Given the description of an element on the screen output the (x, y) to click on. 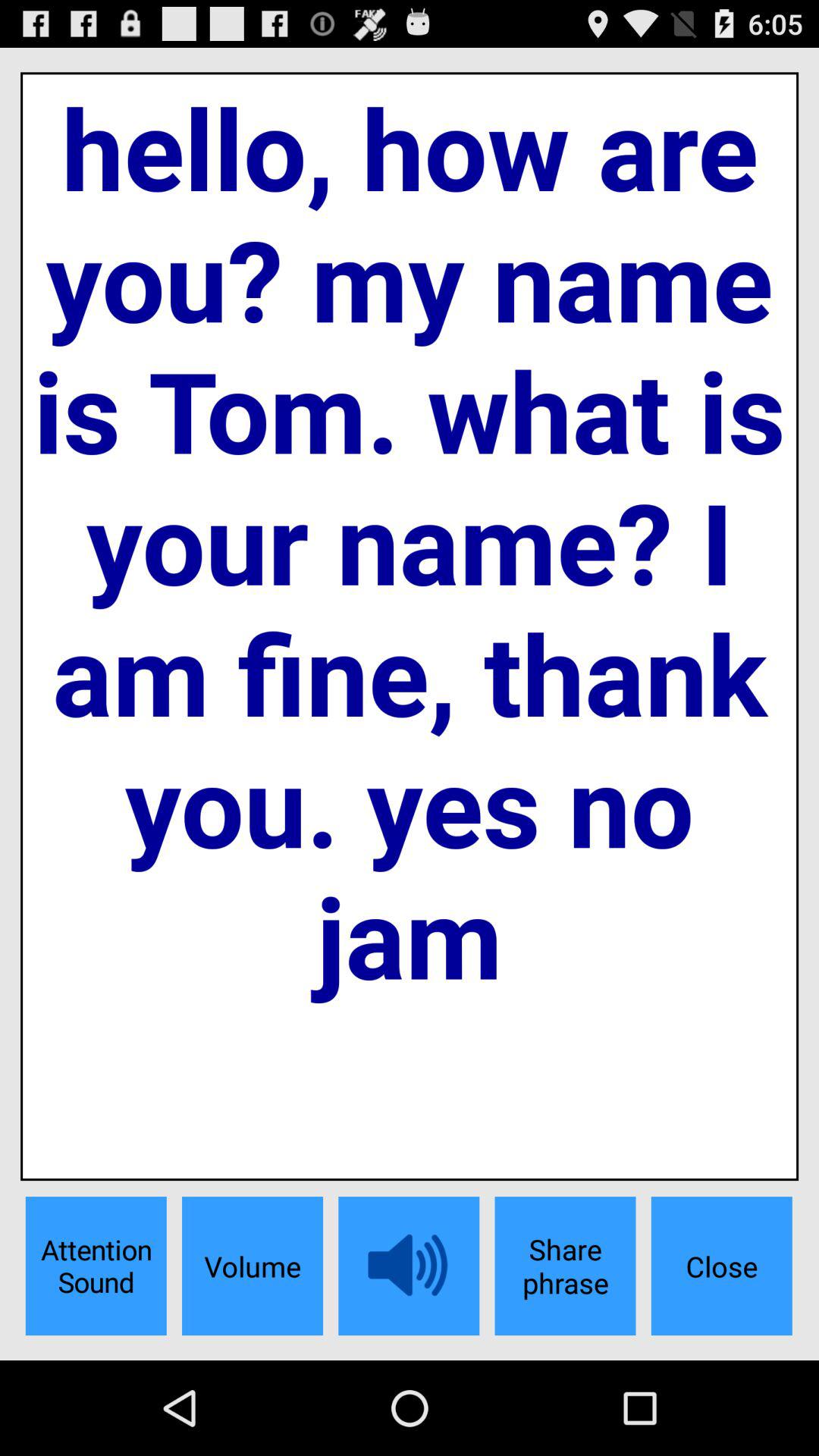
open the item to the right of the share
phrase icon (721, 1265)
